Given the description of an element on the screen output the (x, y) to click on. 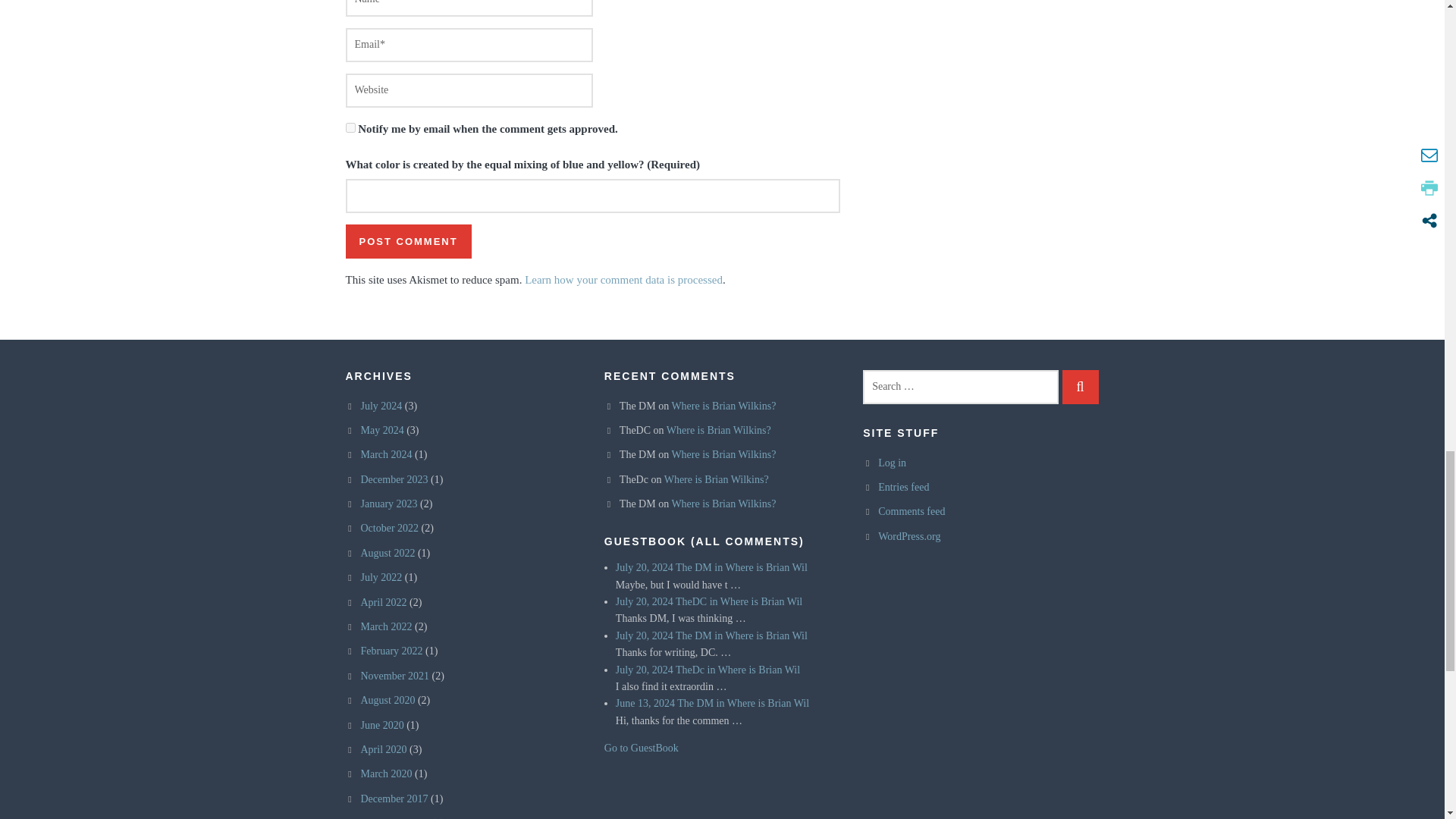
Page of comment: Where is Brian Wilkins? (759, 567)
Post Comment (408, 241)
Learn how your comment data is processed (623, 279)
Date of comment: July 20, 2024 (645, 567)
1 (350, 127)
Comment author: The DM (693, 567)
Post Comment (408, 241)
